Given the description of an element on the screen output the (x, y) to click on. 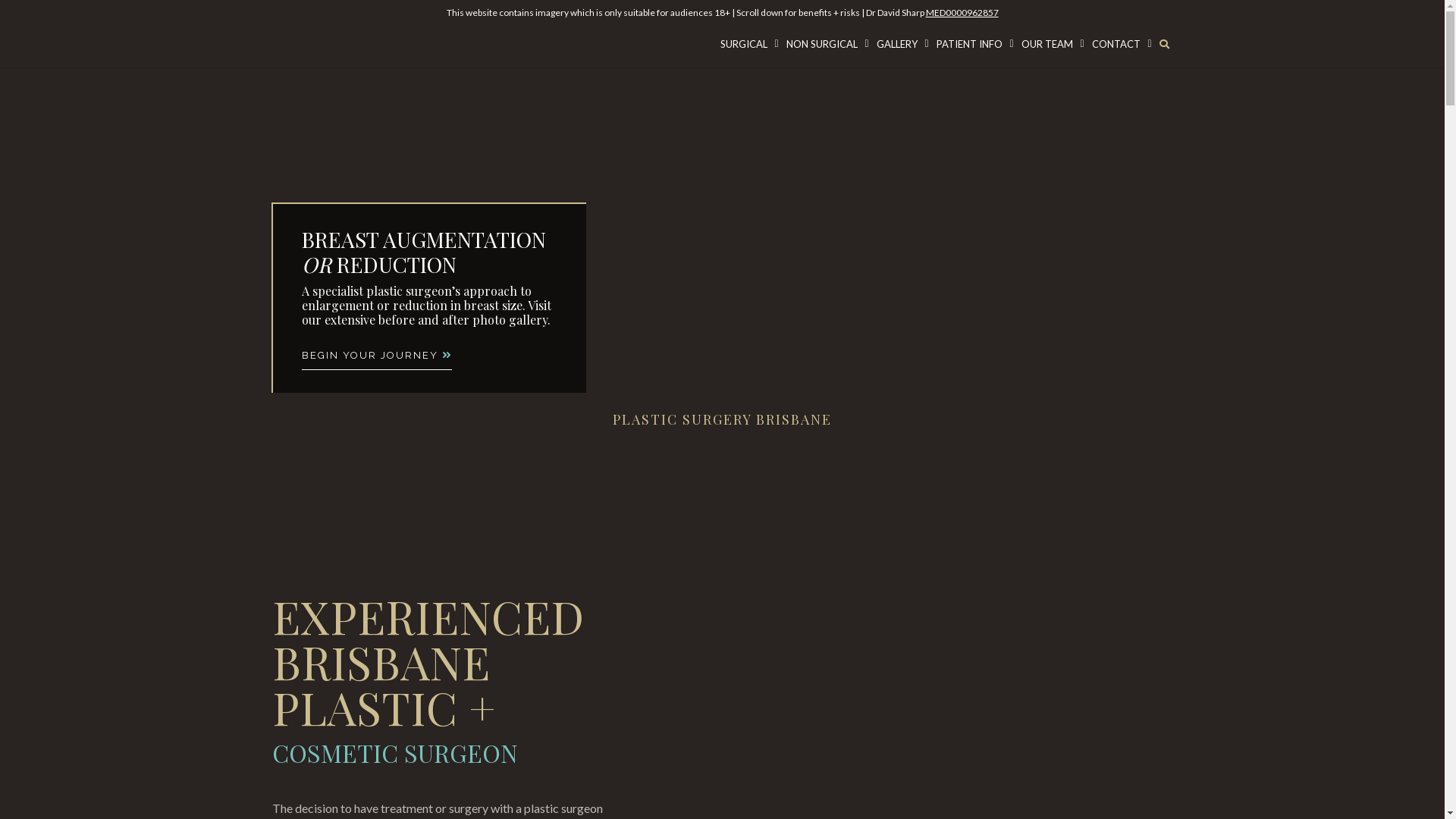
MED0000962857 Element type: text (961, 12)
CONTACT Element type: text (1120, 43)
GALLERY Element type: text (901, 43)
NON SURGICAL Element type: text (827, 43)
07-3202-4744 Element type: text (949, 36)
SURGICAL Element type: text (748, 43)
BEGIN YOUR JOURNEY Element type: text (376, 359)
FRACS1 Element type: hover (721, 513)
BEGIN YOUR JOURNEY Element type: text (376, 645)
asaps_logo Element type: hover (878, 505)
PATIENT INFO Element type: text (974, 43)
OUR TEAM Element type: text (1052, 43)
REQUEST AN APPOINTMENT Element type: text (1095, 36)
Search Element type: text (827, 425)
asps Element type: hover (566, 505)
